Given the description of an element on the screen output the (x, y) to click on. 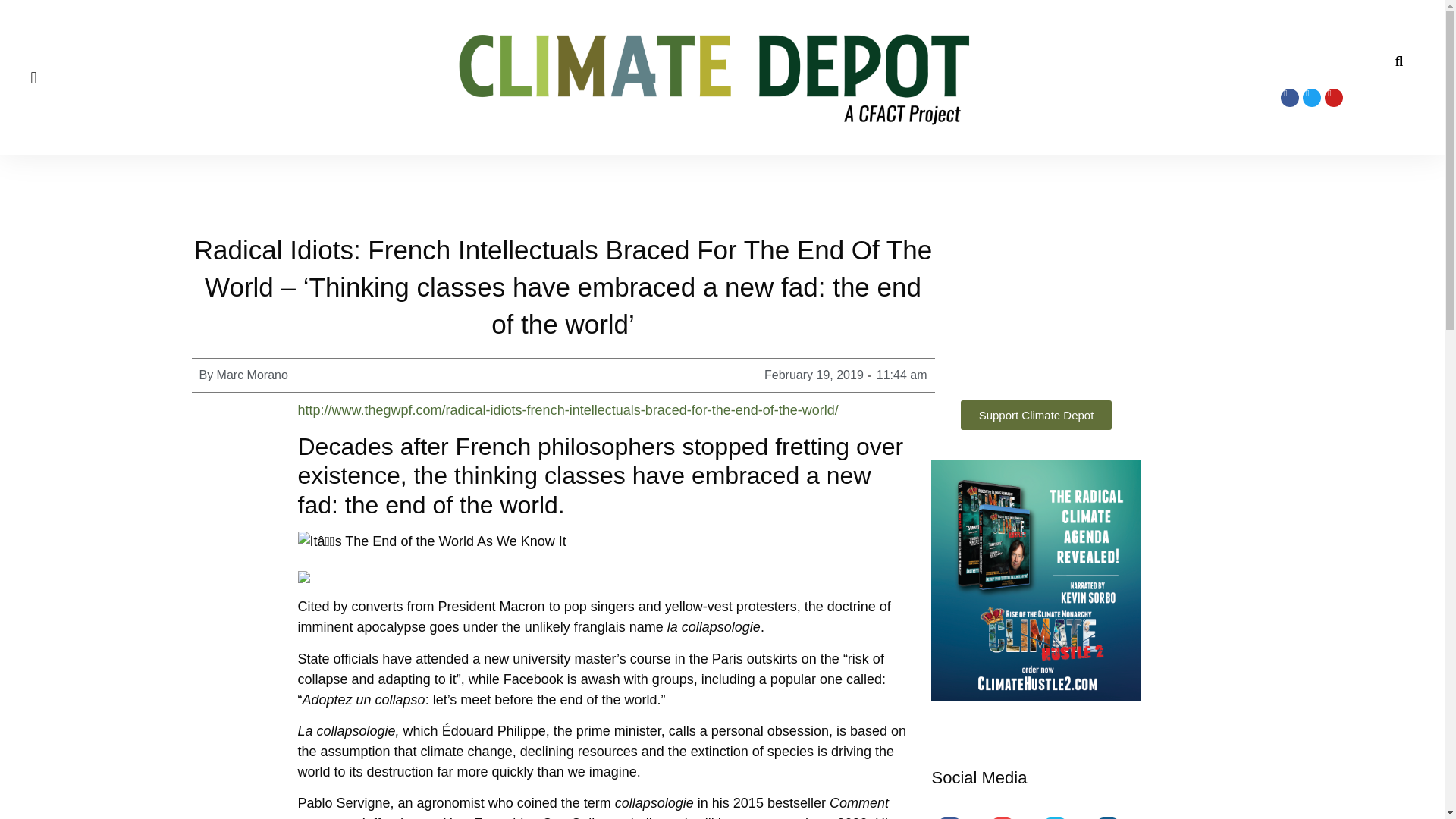
By Marc Morano (242, 375)
February 19, 2019 (813, 375)
Support Climate Depot (1036, 414)
